Given the description of an element on the screen output the (x, y) to click on. 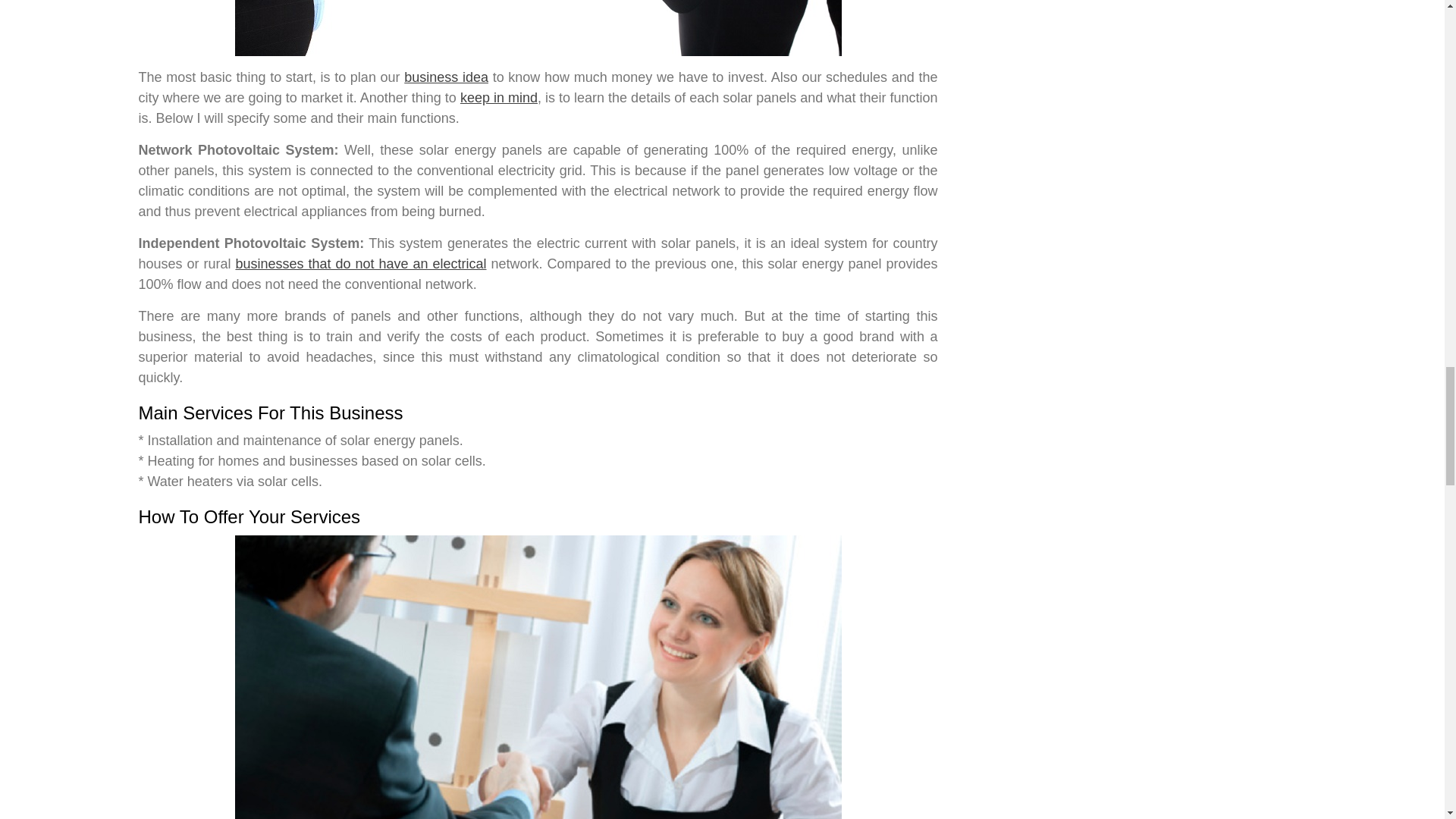
Run The Business (537, 28)
